Given the description of an element on the screen output the (x, y) to click on. 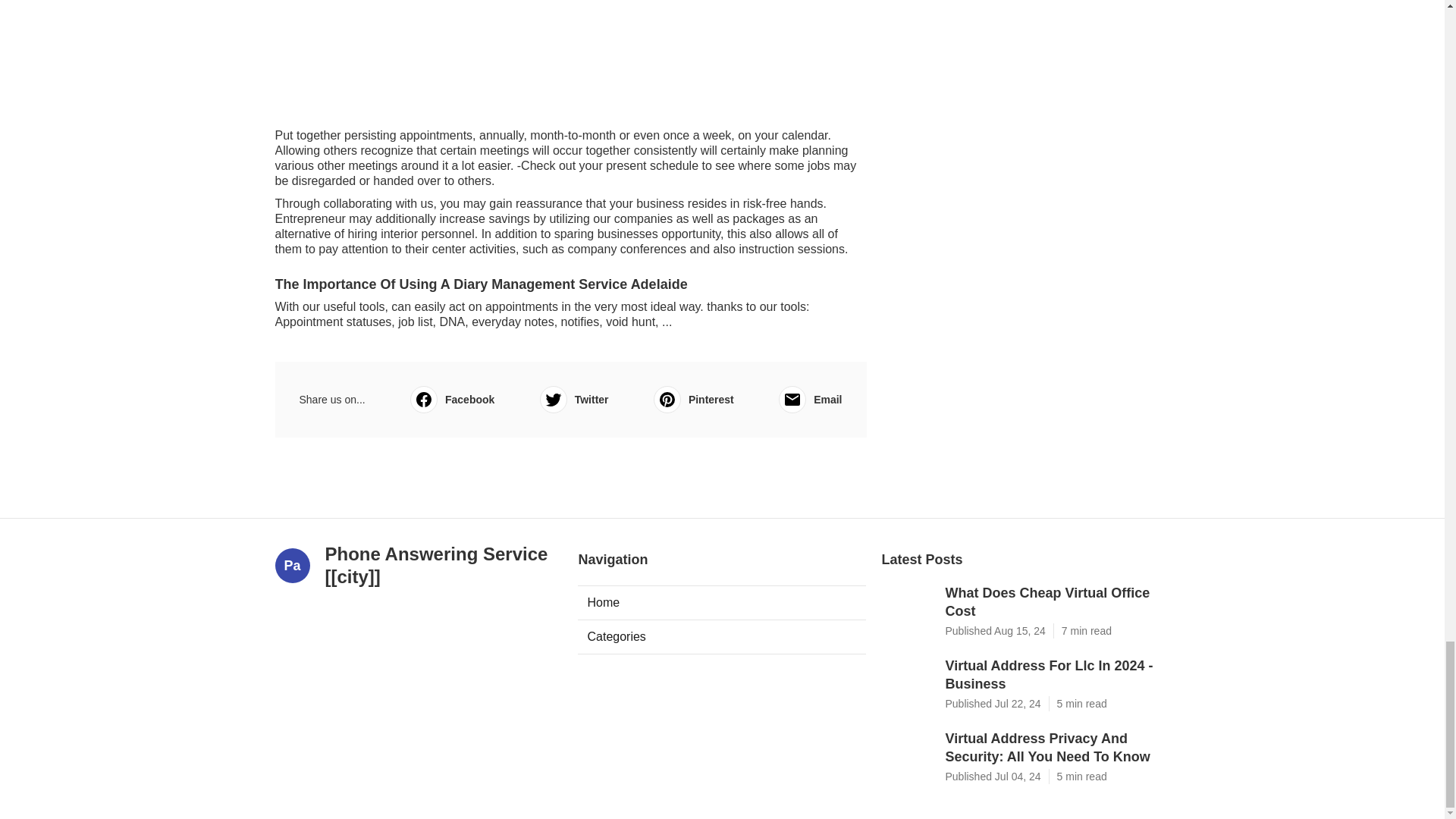
Pinterest (693, 399)
Twitter (574, 399)
Email (809, 399)
Facebook (452, 399)
